Given the description of an element on the screen output the (x, y) to click on. 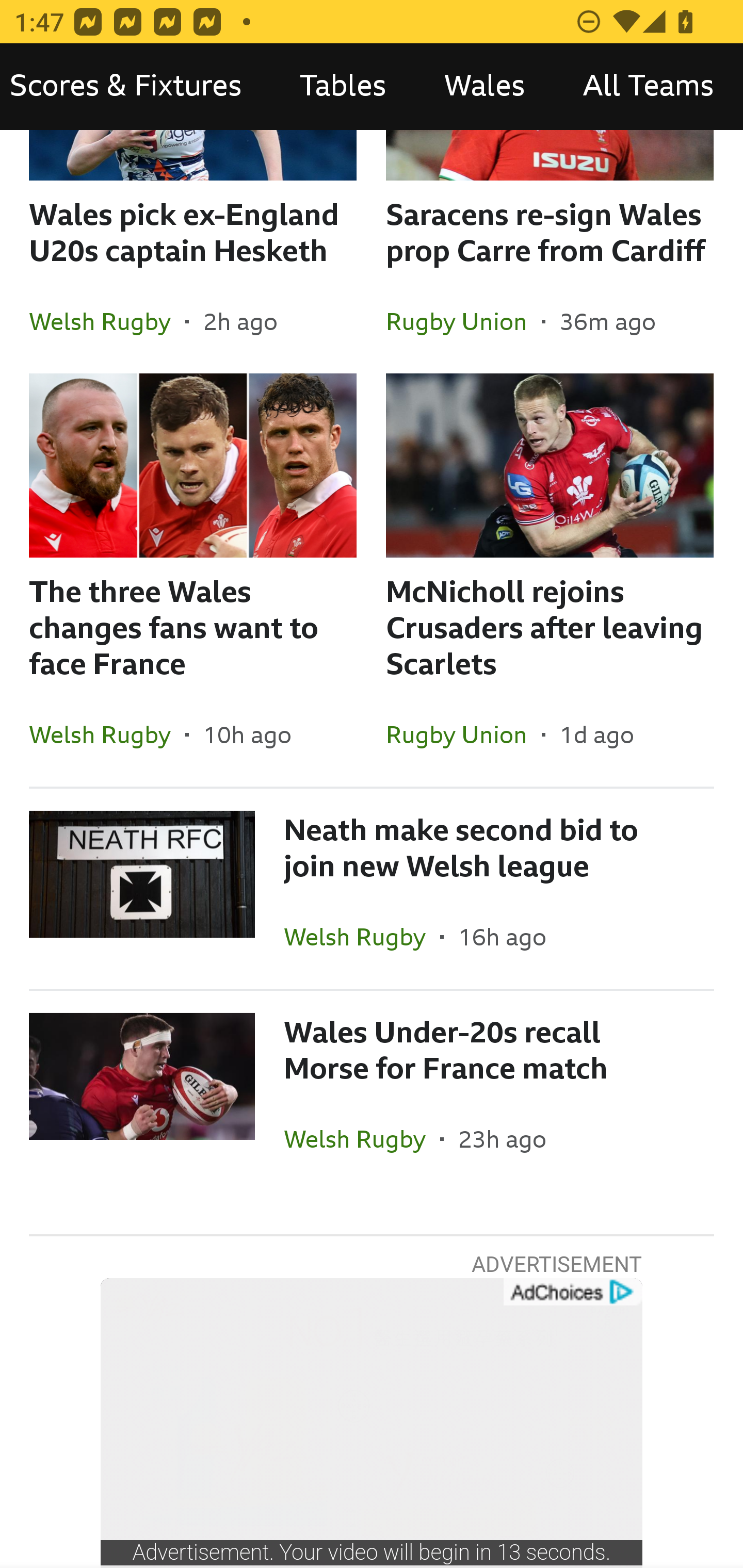
Scores & Fixtures (135, 86)
Tables (343, 86)
Wales (484, 86)
All Teams (648, 86)
Rugby Union In the section Rugby Union (463, 321)
Rugby Union In the section Rugby Union (463, 734)
Video Player get?name=admarker-full-tl   (371, 1422)
get?name=admarker-full-tl (571, 1292)
